Given the description of an element on the screen output the (x, y) to click on. 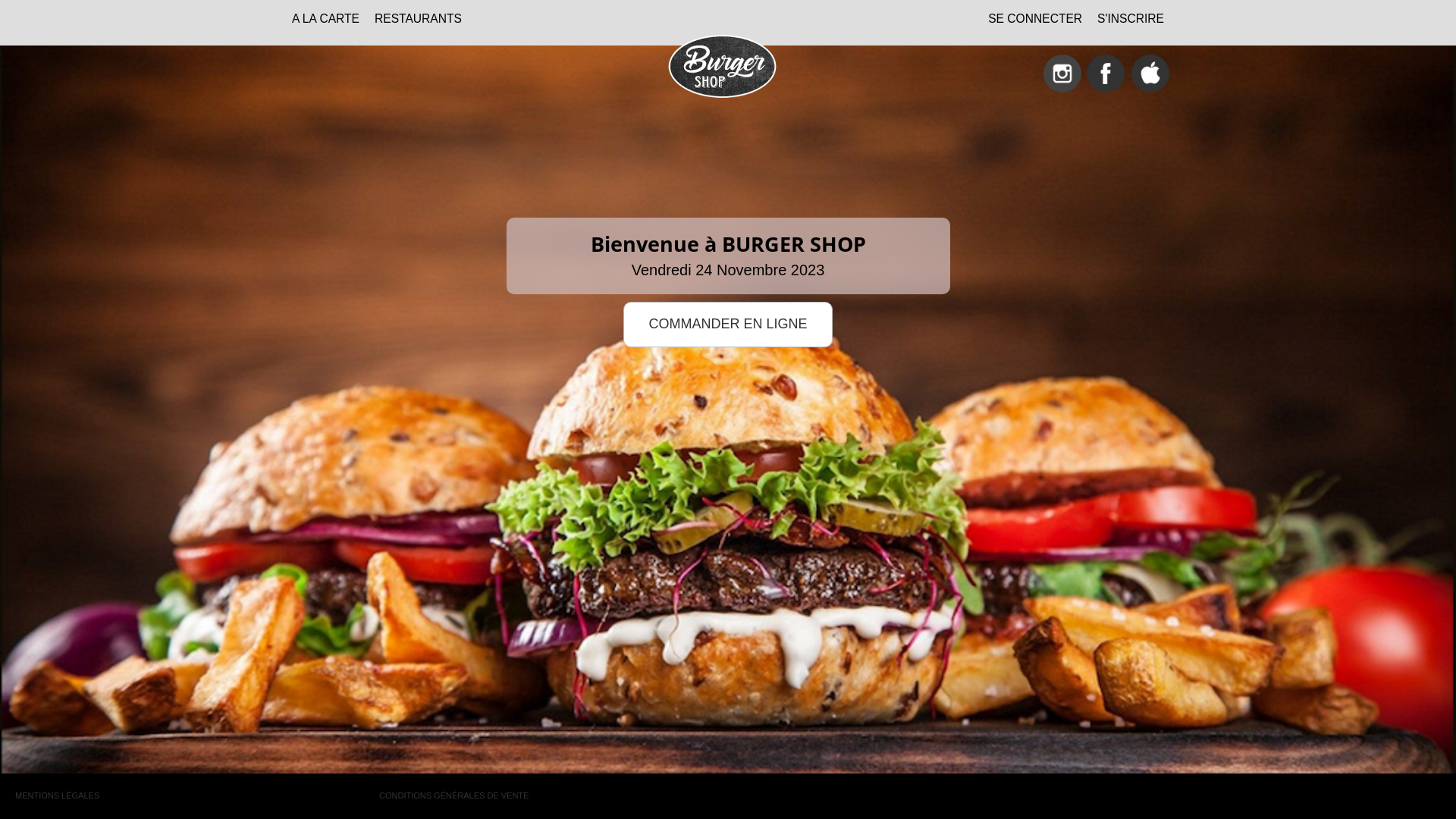
SE CONNECTER Element type: text (1034, 21)
COMMANDER EN LIGNE Element type: text (727, 324)
S'INSCRIRE Element type: text (1130, 21)
RESTAURANTS Element type: text (418, 21)
A LA CARTE Element type: text (325, 21)
